Given the description of an element on the screen output the (x, y) to click on. 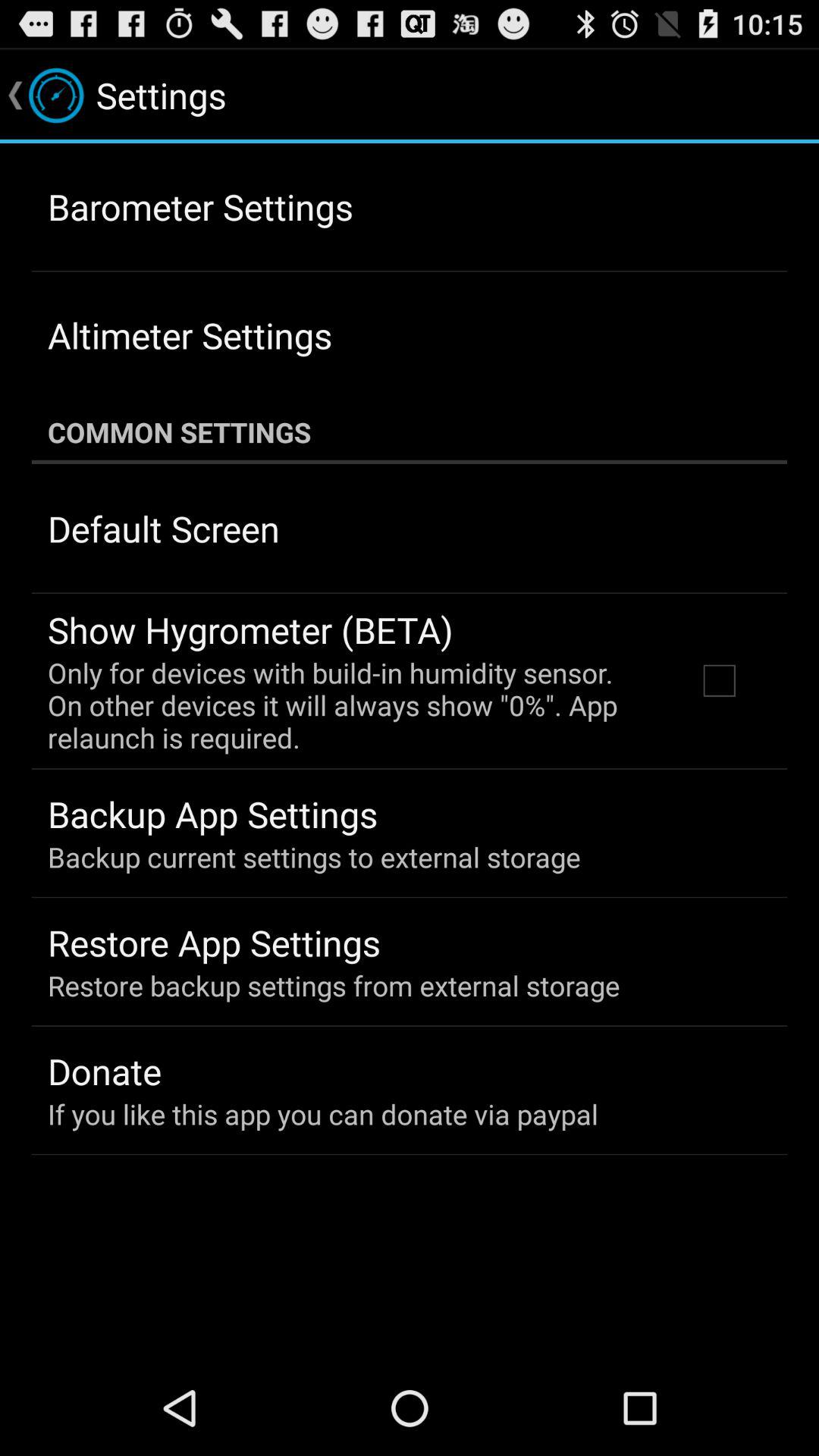
click app above the common settings item (189, 335)
